Given the description of an element on the screen output the (x, y) to click on. 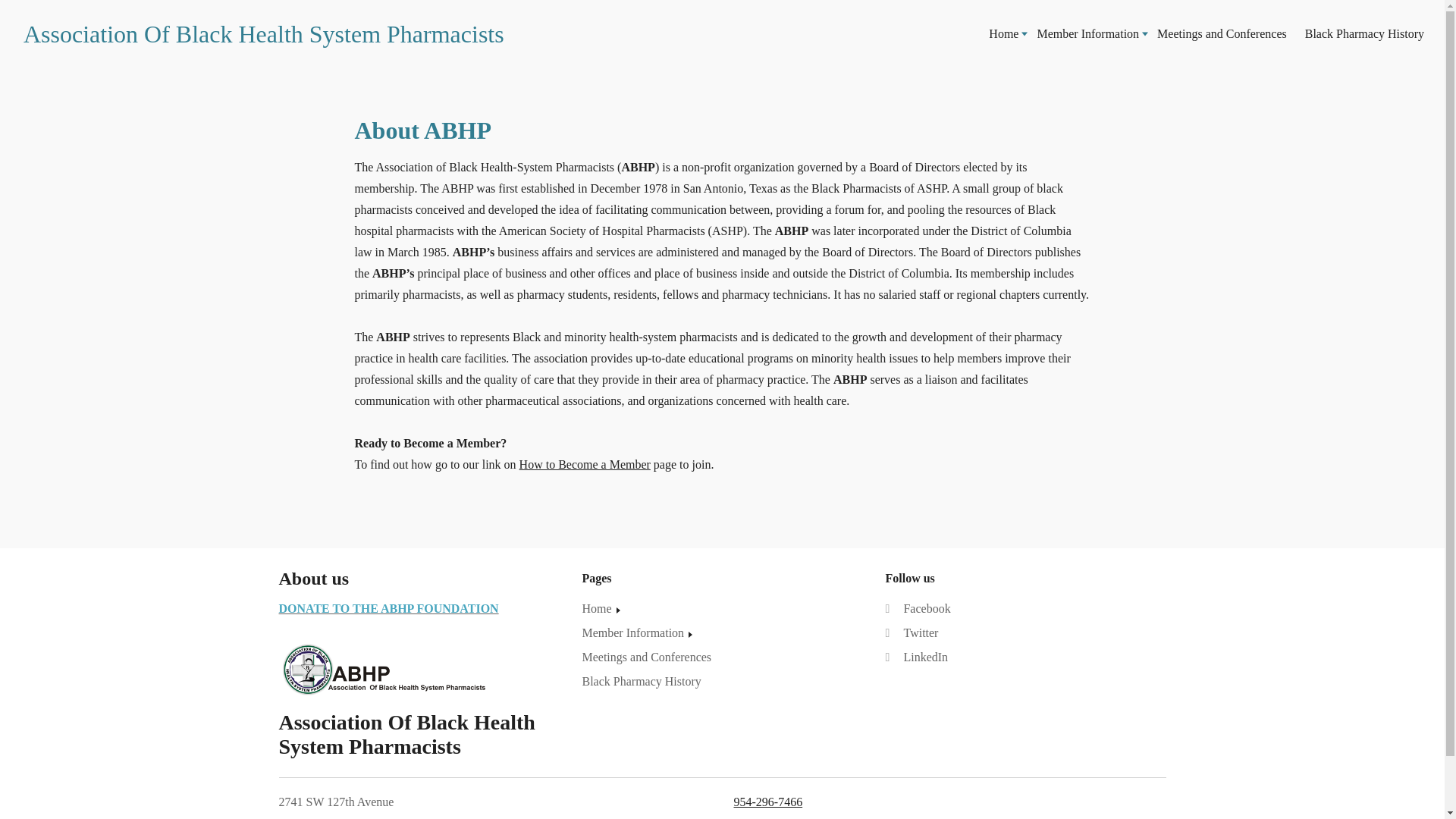
Meetings and Conferences (645, 657)
LinkedIn (916, 657)
DONATE TO THE ABHP FOUNDATION (389, 608)
Black Pharmacy History (1363, 33)
Facebook (917, 608)
How to Become a Member (584, 463)
Association Of Black Health System Pharmacists (269, 33)
Member Information (1087, 33)
Black Pharmacy History (640, 681)
Twitter (911, 632)
Home (1002, 33)
Meetings and Conferences (1222, 33)
Member Information (637, 632)
Home (601, 608)
